Given the description of an element on the screen output the (x, y) to click on. 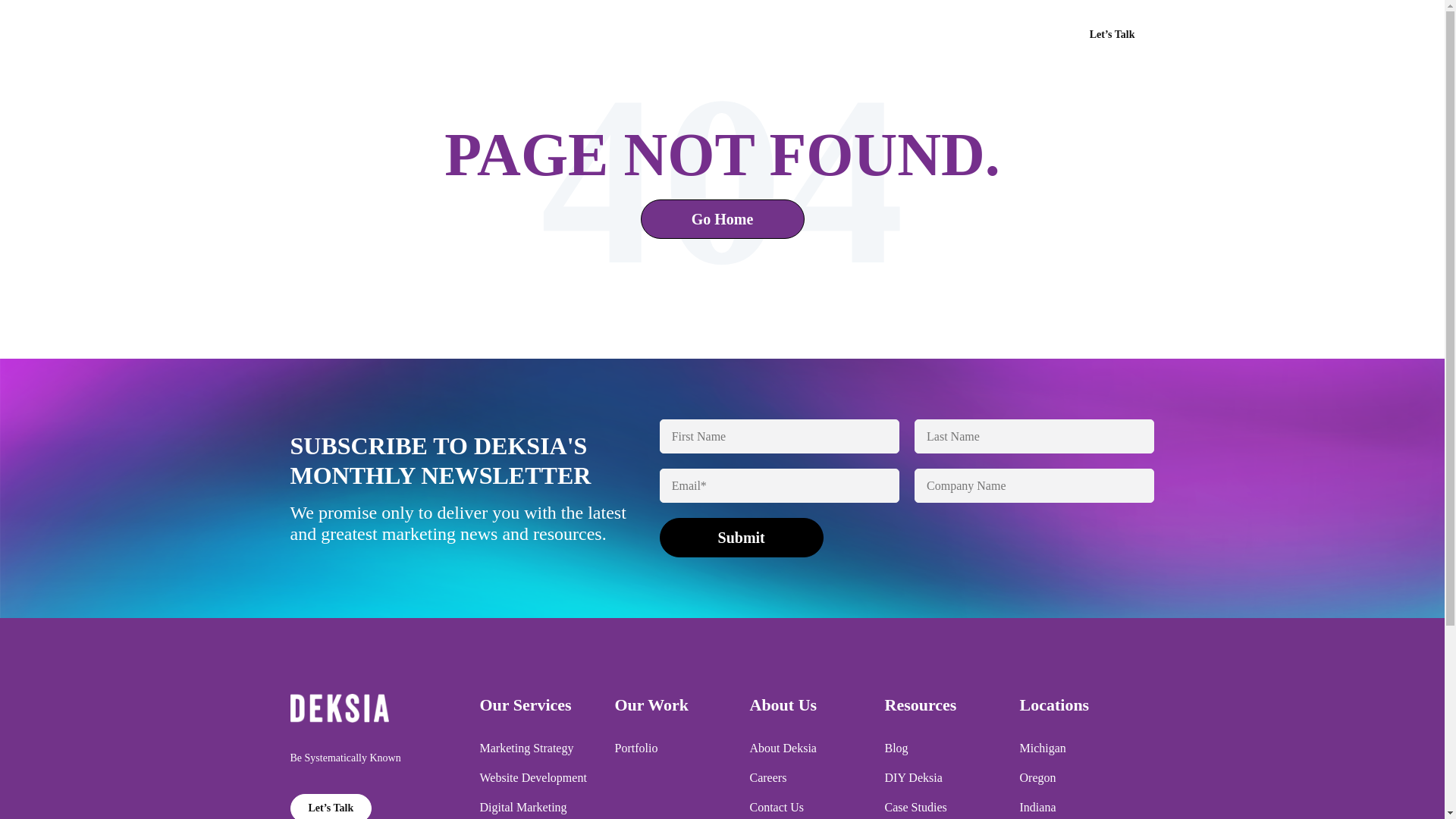
Contact Us (776, 807)
Our Work (861, 34)
Digital Marketing (522, 807)
Portfolio (636, 748)
Marketing Strategy (526, 748)
Website Development (532, 778)
Go Home (721, 219)
Submit (741, 537)
About Us (937, 34)
Our Services (778, 34)
Blog (895, 748)
About Deksia (782, 748)
Resources (1013, 34)
Careers (767, 778)
Submit (741, 537)
